Given the description of an element on the screen output the (x, y) to click on. 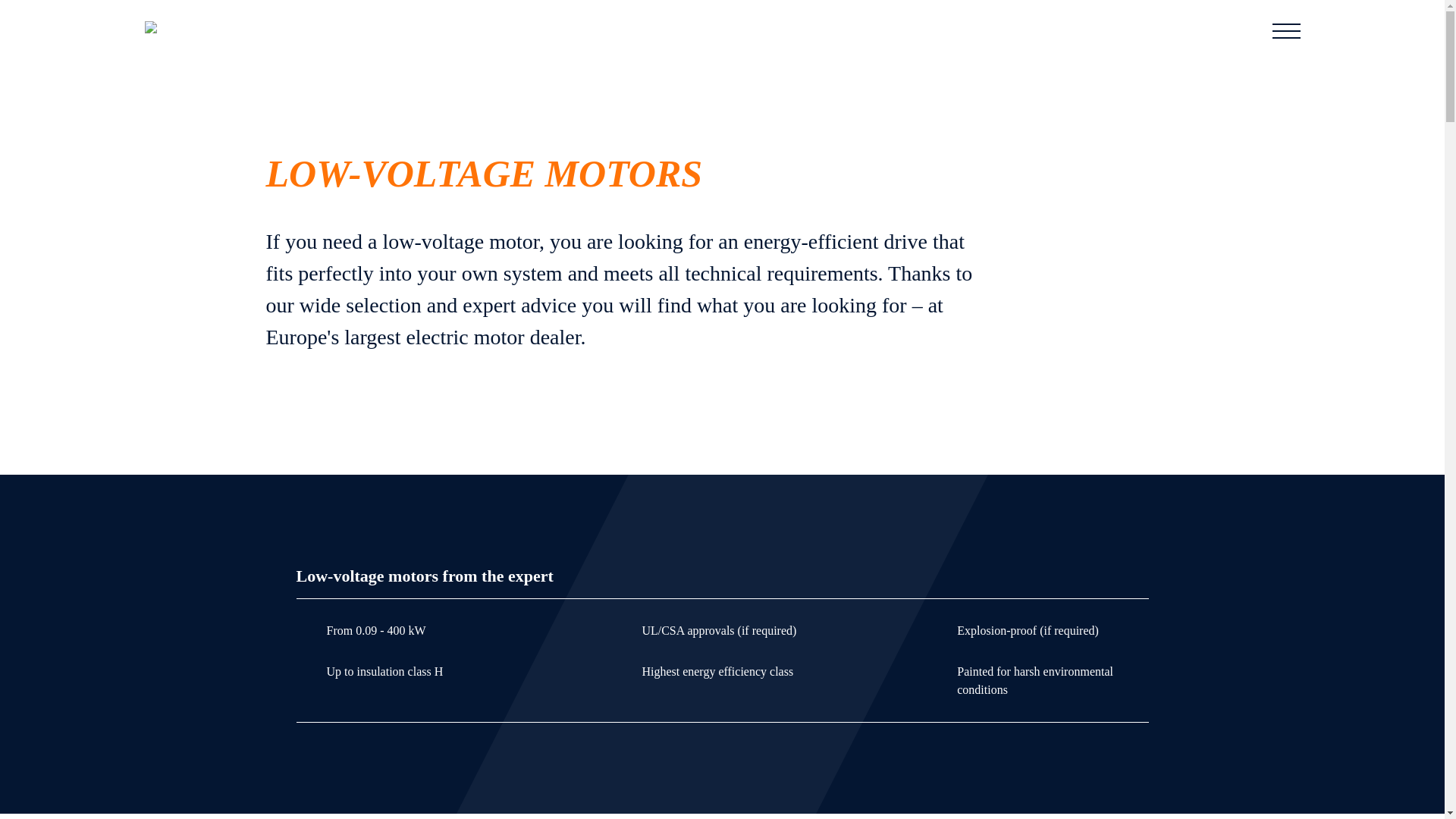
Career (623, 29)
About us (579, 29)
Modifications (406, 29)
Home (293, 29)
Home (293, 29)
Products (341, 29)
Documents (470, 29)
About us (579, 29)
Career (623, 29)
Products (341, 29)
